Given the description of an element on the screen output the (x, y) to click on. 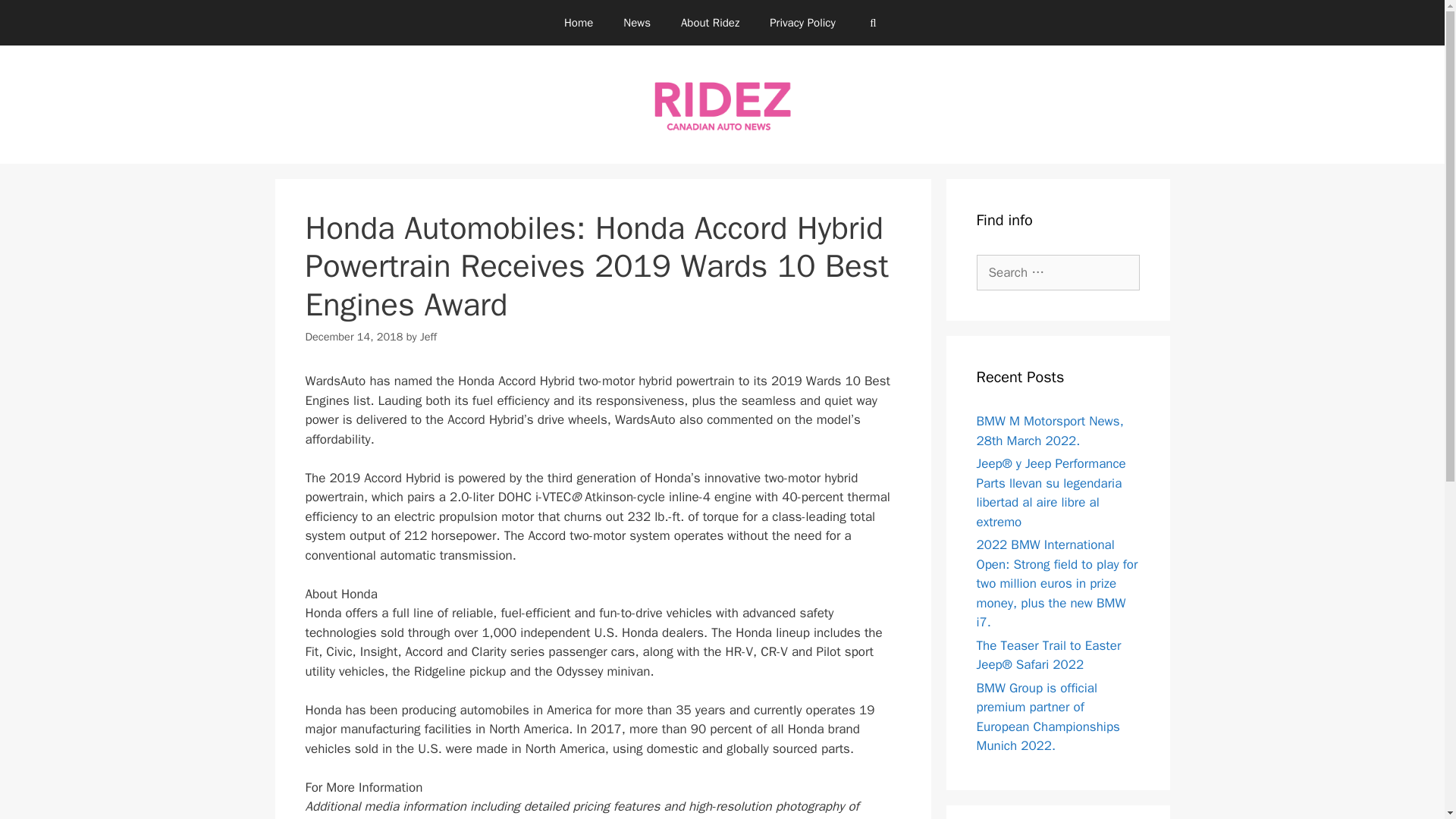
Search for: (1058, 272)
View all posts by Jeff (428, 336)
BMW M Motorsport News, 28th March 2022. (1050, 430)
Search (35, 18)
Jeff (428, 336)
Privacy Policy (802, 22)
About Ridez (709, 22)
News (636, 22)
